Given the description of an element on the screen output the (x, y) to click on. 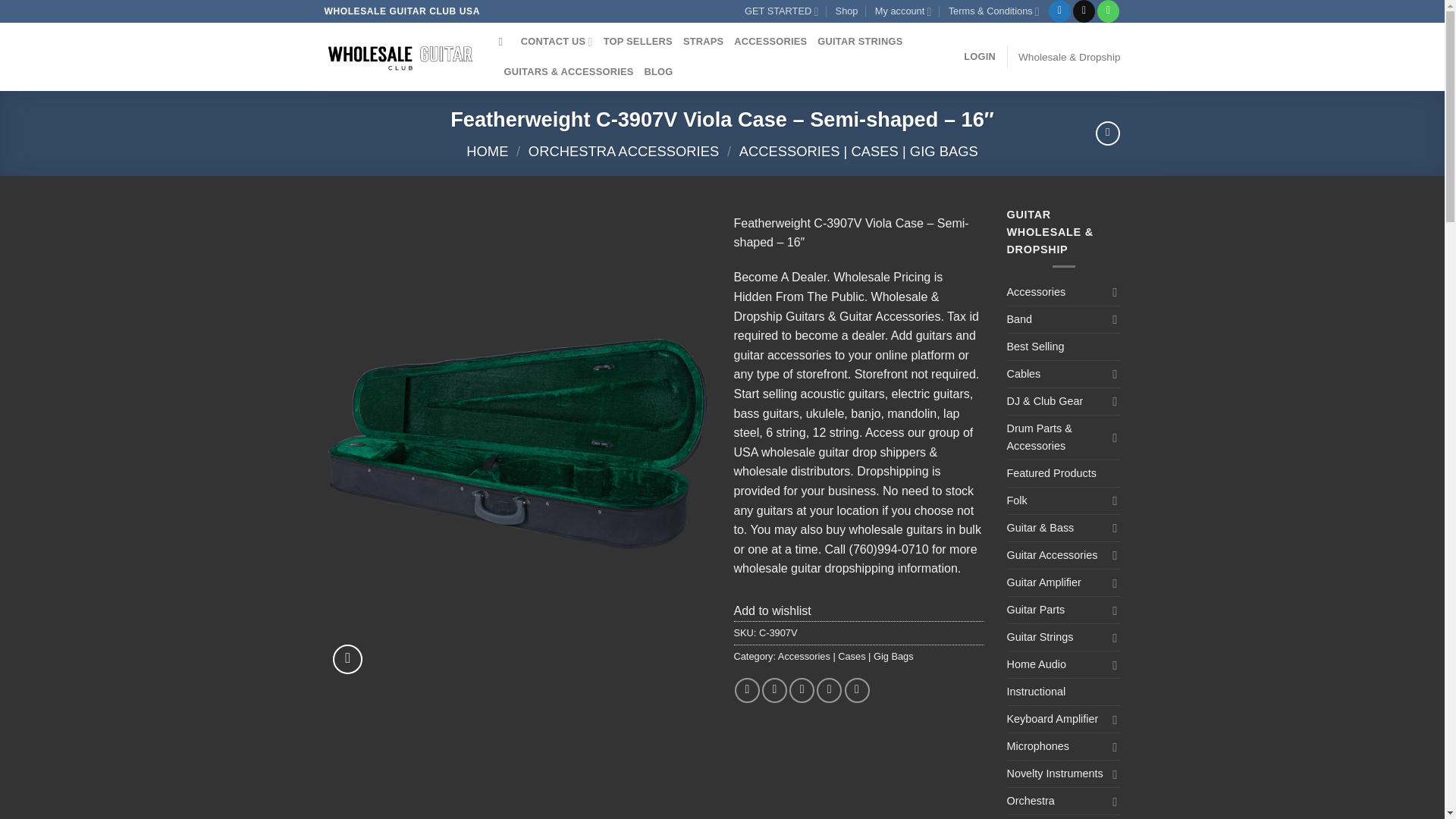
LOGIN (979, 56)
ACCESSORIES (769, 41)
Follow on Twitter (1059, 11)
STRAPS (702, 41)
Shop (847, 11)
GET STARTED (781, 11)
HOME (486, 150)
GUITAR STRINGS (859, 41)
Email to a Friend (801, 690)
Call us (1108, 11)
My account (903, 11)
Share on LinkedIn (856, 690)
CONTACT US (556, 41)
ORCHESTRA ACCESSORIES (623, 150)
Send us an email (1083, 11)
